Given the description of an element on the screen output the (x, y) to click on. 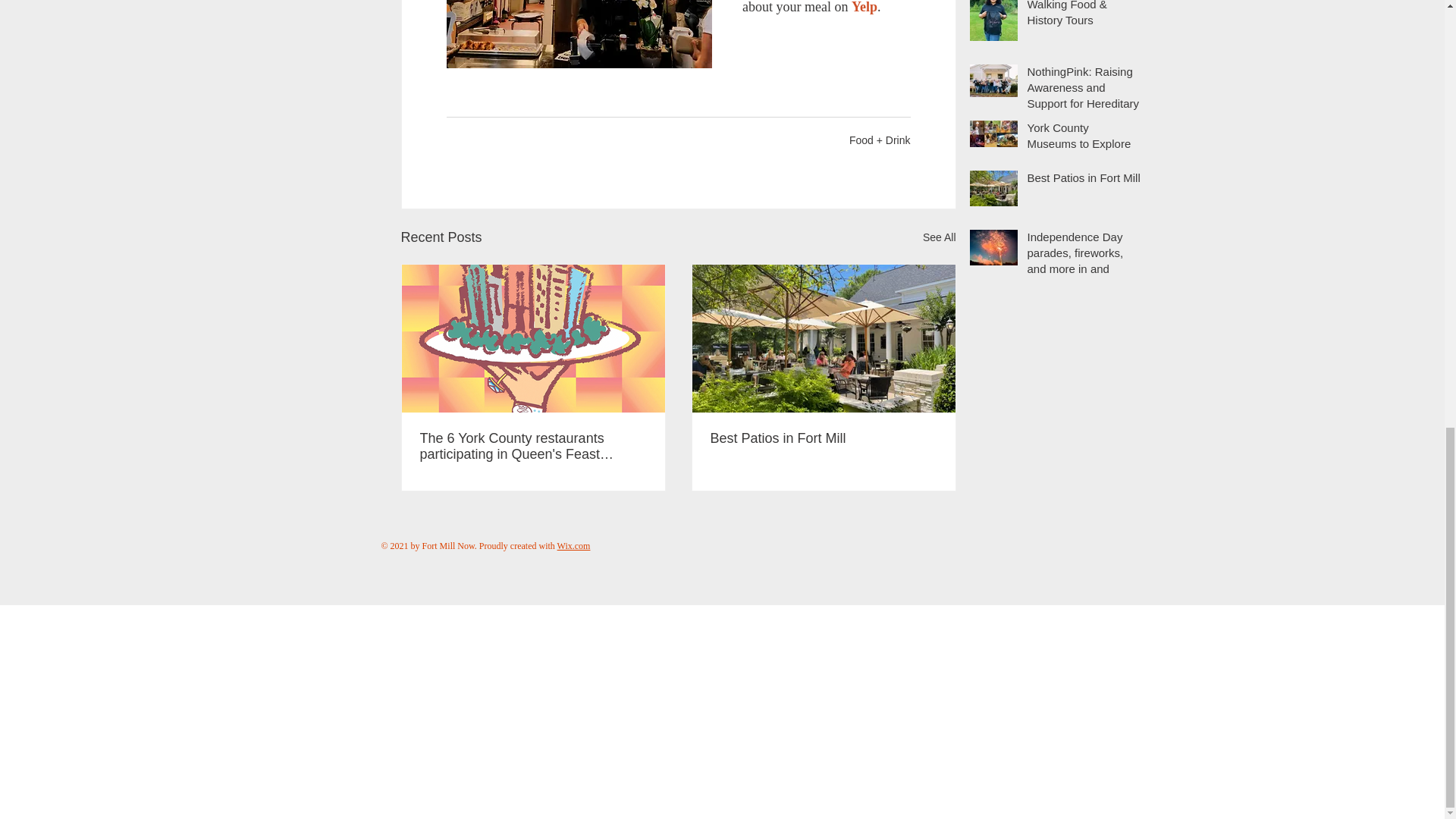
Best Patios in Fort Mill (1083, 180)
Yelp (863, 7)
See All (939, 237)
York County Museums to Explore (1083, 138)
Wix.com (574, 545)
Best Patios in Fort Mill (823, 438)
